Given the description of an element on the screen output the (x, y) to click on. 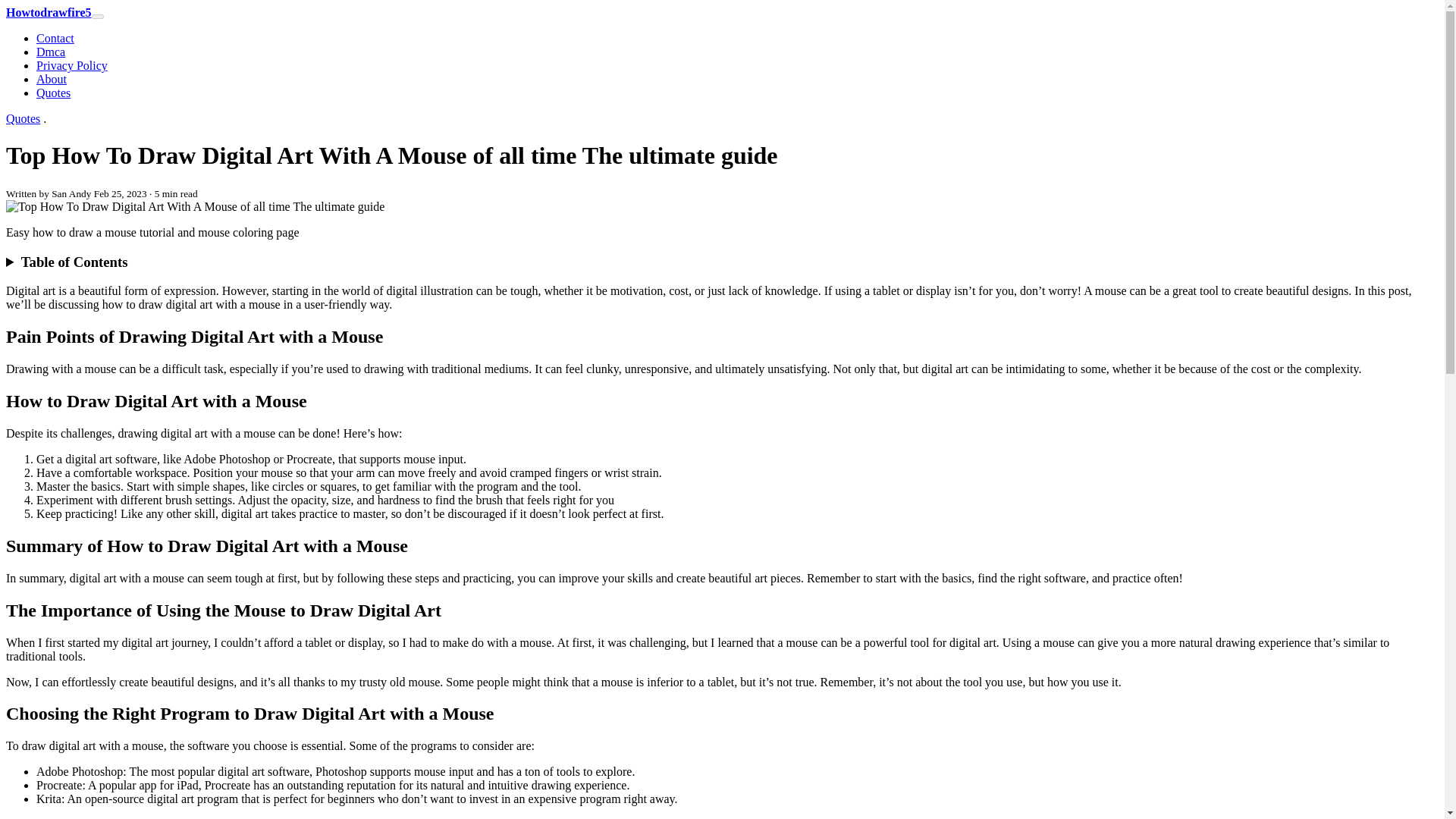
Contact (55, 38)
Privacy Policy (71, 65)
About (51, 78)
Howtodrawfire5 (48, 11)
Quotes (22, 118)
Quotes (52, 92)
Dmca (50, 51)
Quotes (22, 118)
Quotes (52, 92)
